Given the description of an element on the screen output the (x, y) to click on. 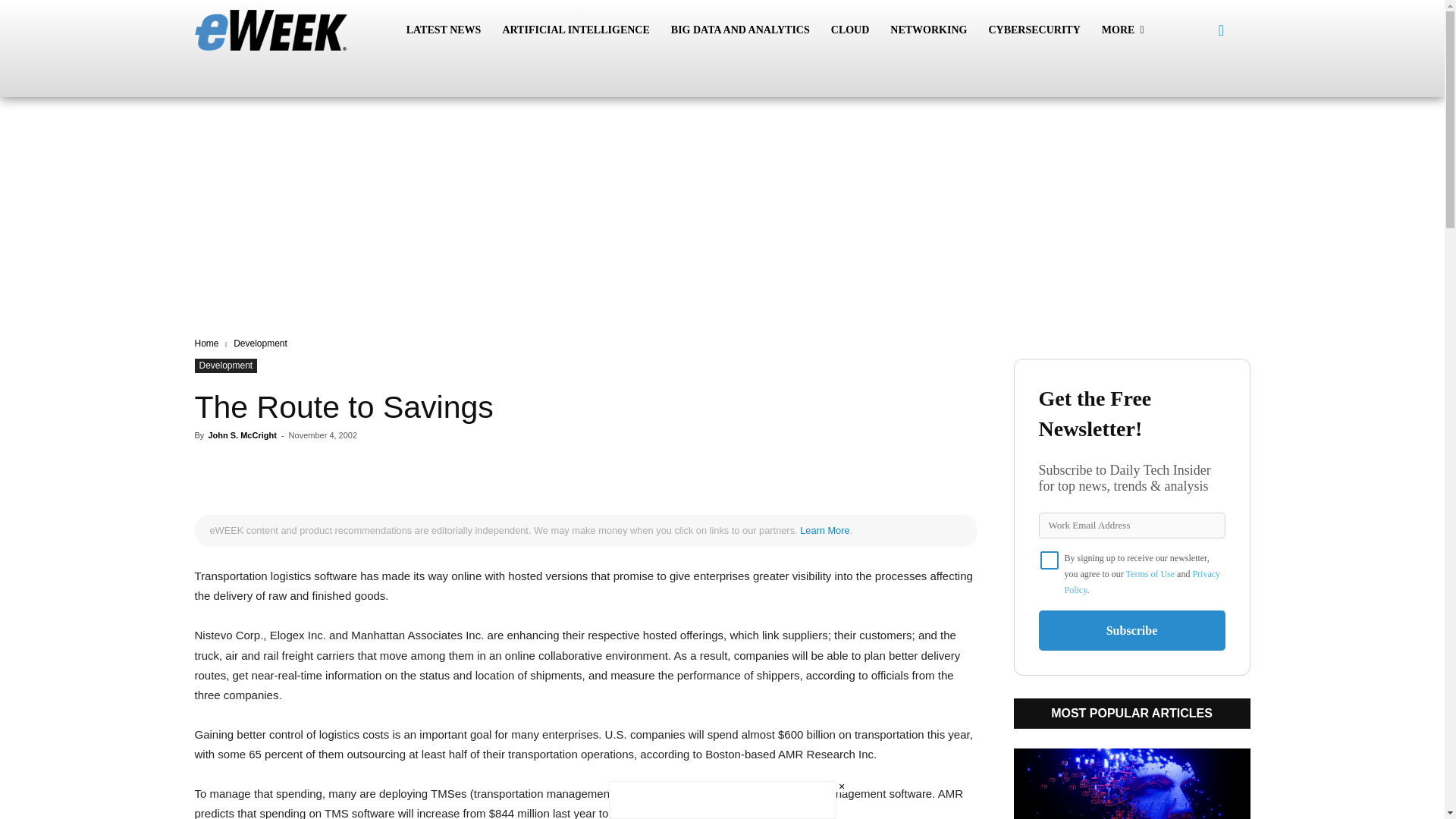
BIG DATA AND ANALYTICS (741, 30)
CLOUD (850, 30)
LATEST NEWS (444, 30)
ARTIFICIAL INTELLIGENCE (575, 30)
CYBERSECURITY (1033, 30)
on (1049, 560)
NETWORKING (927, 30)
